Given the description of an element on the screen output the (x, y) to click on. 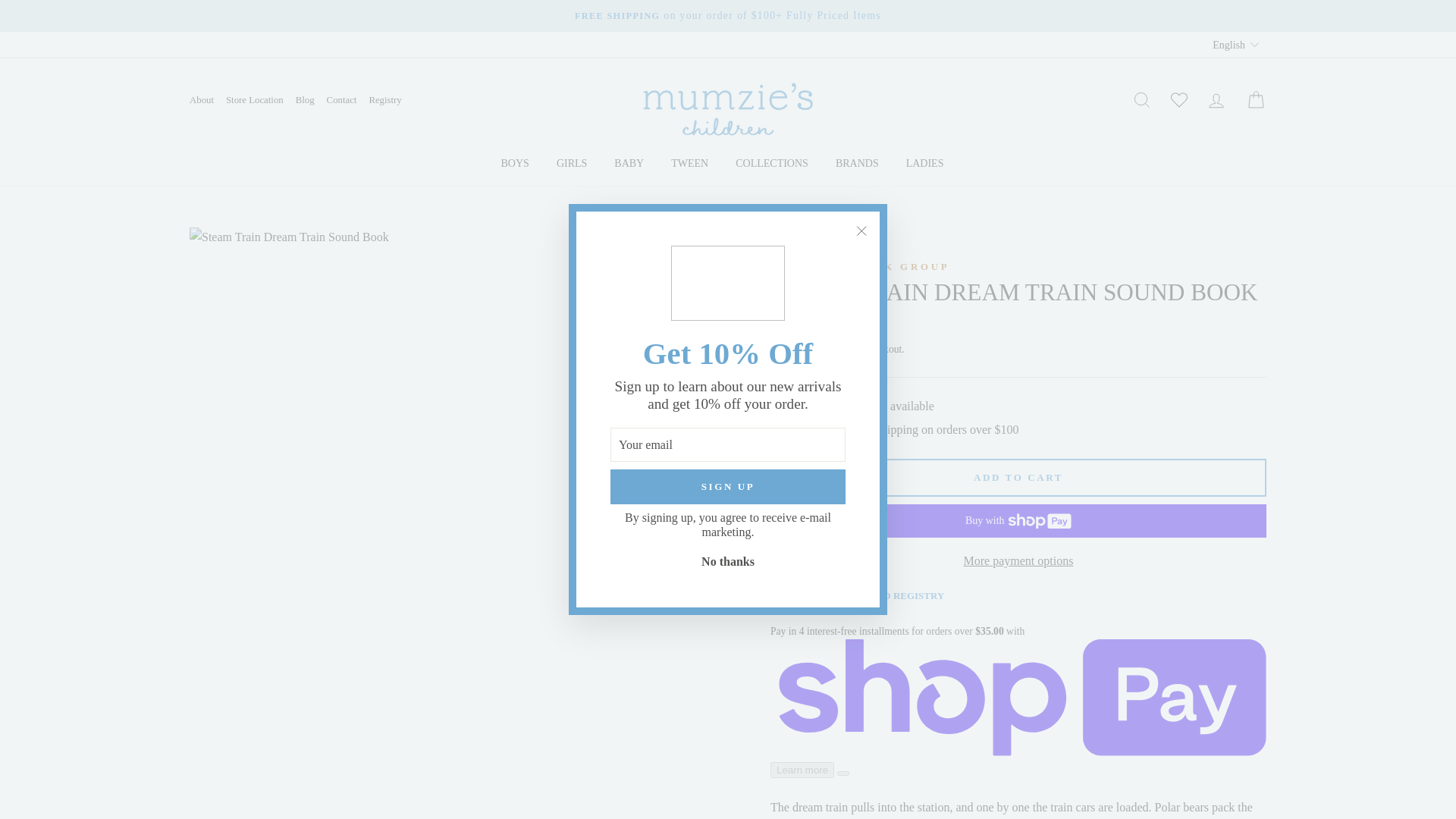
Hachette Book Group (860, 266)
Back to the frontpage (782, 242)
